Given the description of an element on the screen output the (x, y) to click on. 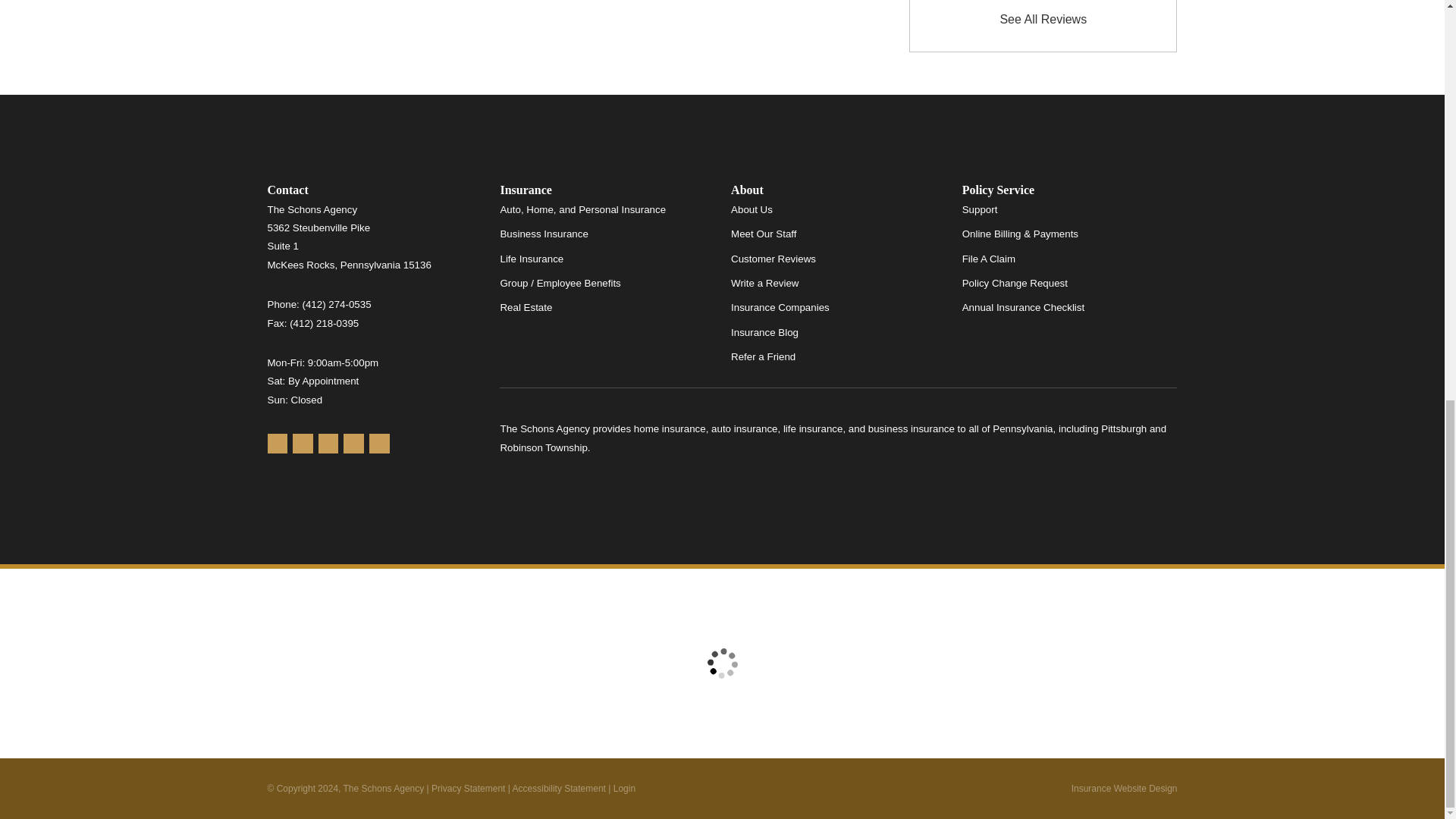
Yelp (302, 444)
Facebook (328, 444)
Google Maps (276, 444)
LinkedIn (379, 444)
X (353, 444)
